Given the description of an element on the screen output the (x, y) to click on. 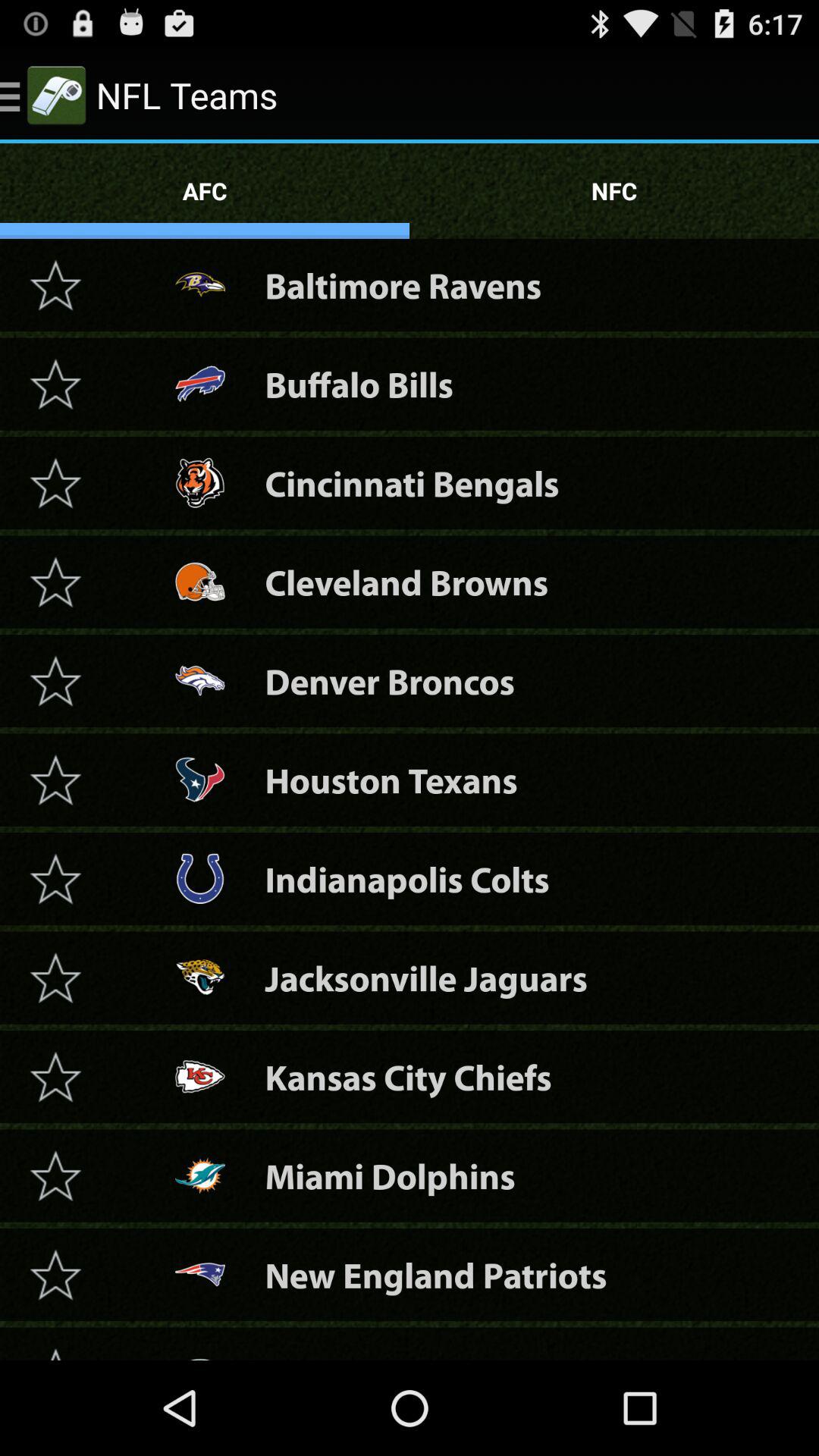
favorite the patriots (55, 1274)
